Given the description of an element on the screen output the (x, y) to click on. 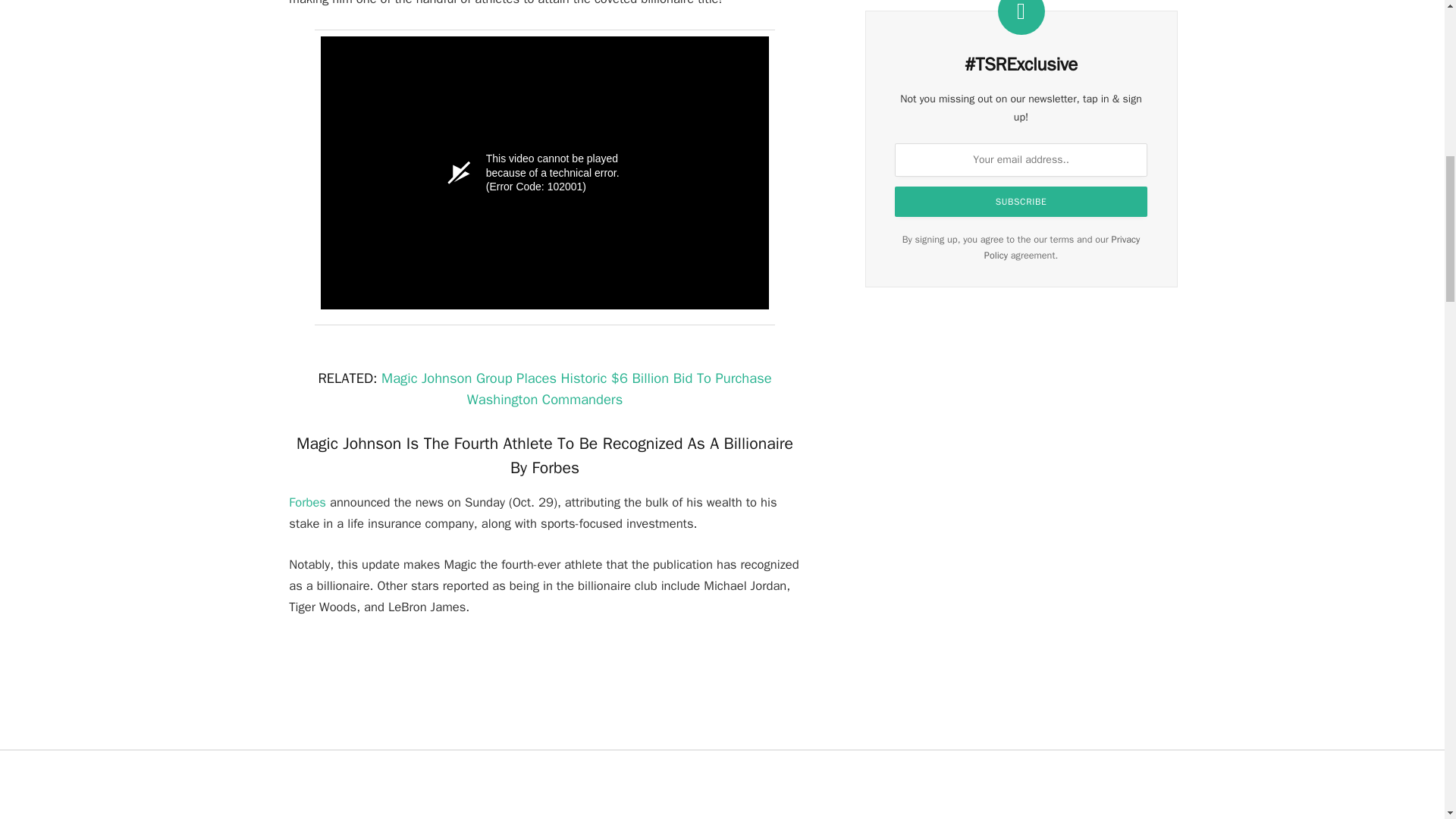
Subscribe (1021, 201)
